Given the description of an element on the screen output the (x, y) to click on. 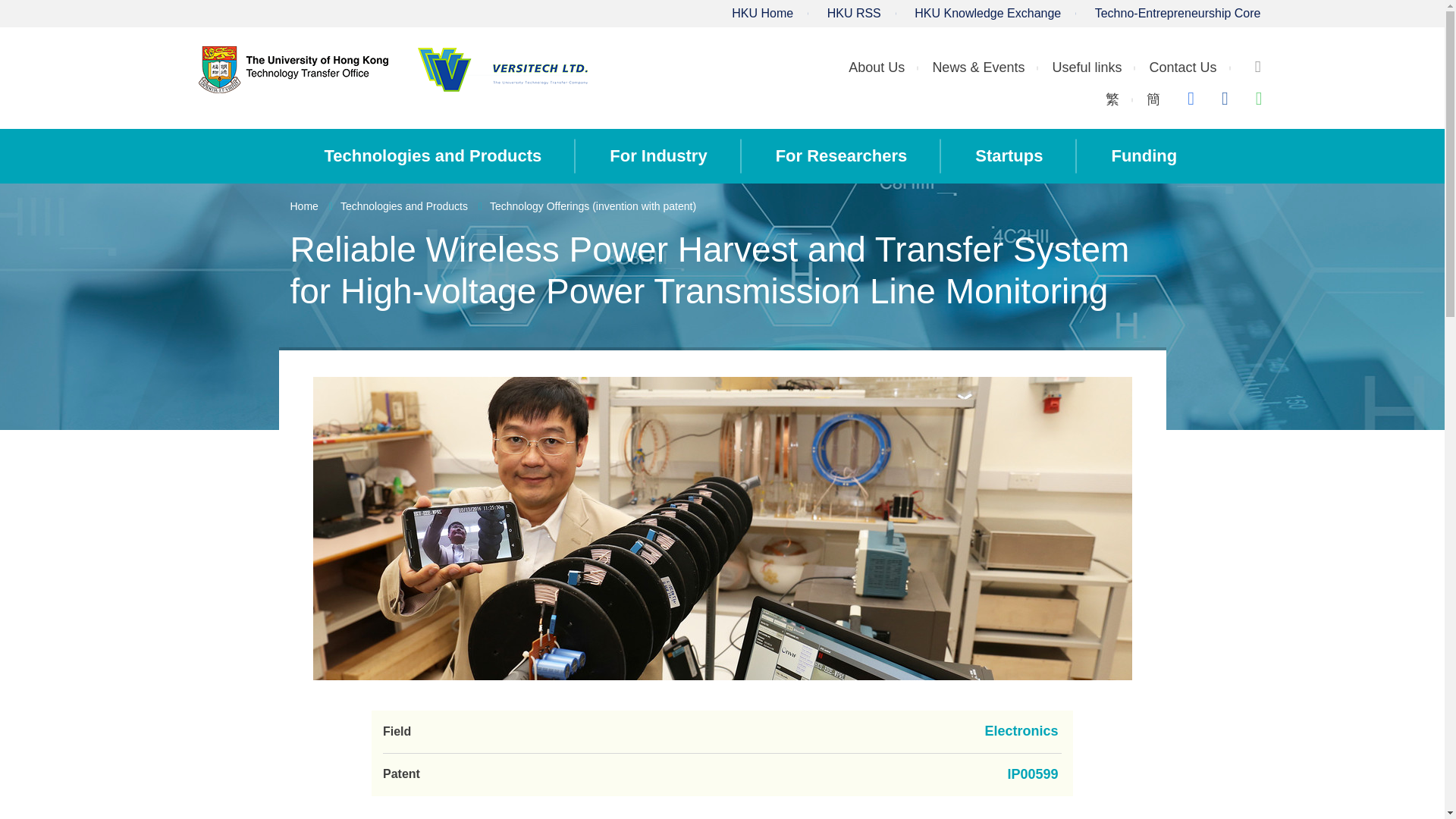
Contact Us (1181, 67)
Techno-Entrepreneurship Core (1177, 12)
HKU RSS (853, 12)
HKU Knowledge Exchange (987, 12)
About Us (876, 67)
HKU Home (762, 12)
Useful links (1086, 67)
